Given the description of an element on the screen output the (x, y) to click on. 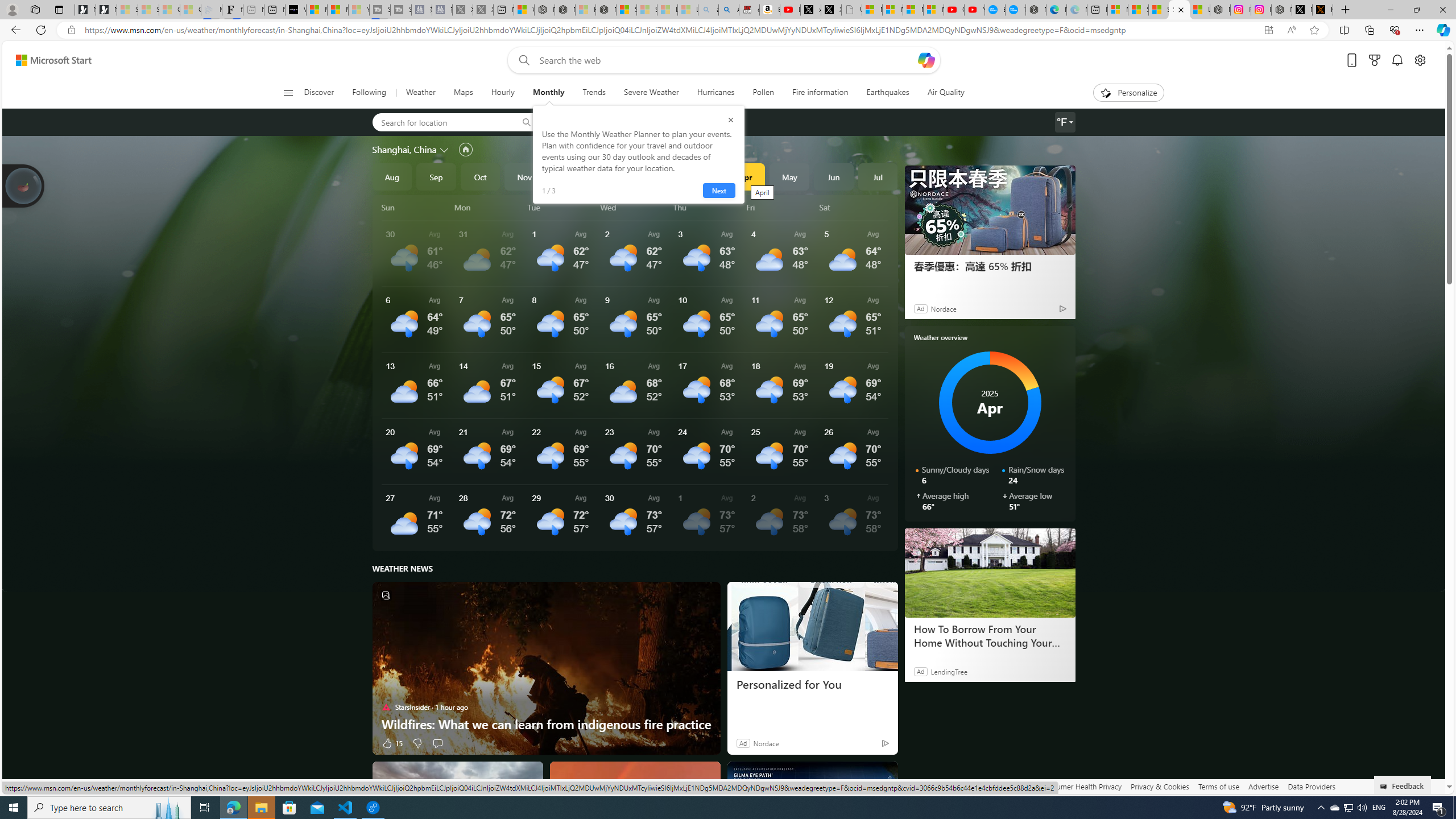
Weather (420, 92)
New tab - Sleeping (253, 9)
Start the conversation (437, 742)
Shanghai, China (403, 149)
X - Sleeping (482, 9)
Your Privacy Choices (987, 786)
Privacy & Cookies (1160, 786)
Skip to content (49, 59)
